Given the description of an element on the screen output the (x, y) to click on. 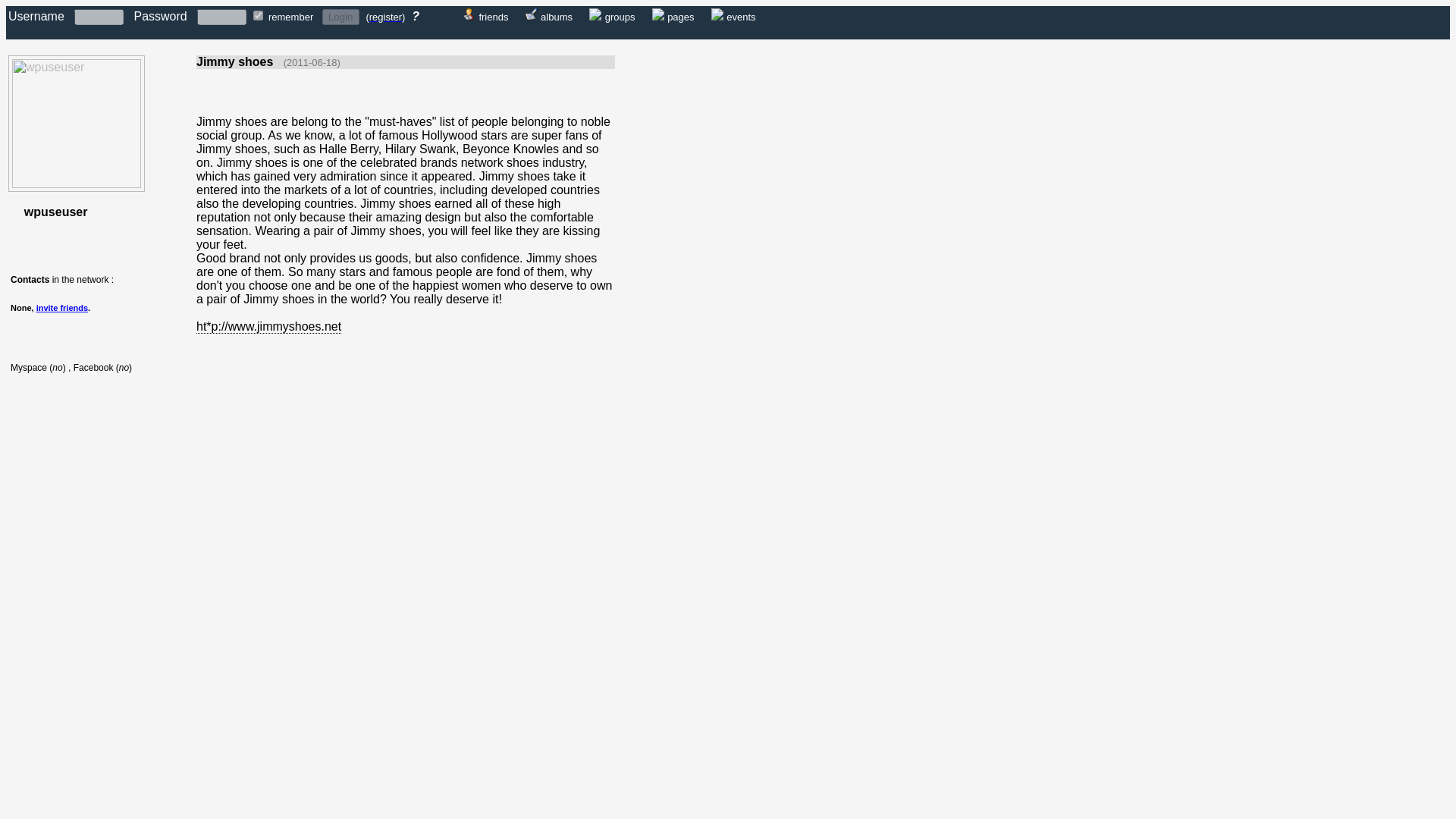
Please connect to find pages (657, 15)
Please connect to find pages (680, 15)
wpuseuser (76, 183)
Login (340, 17)
Please connect to find groups (595, 15)
events (740, 15)
Find friends (469, 15)
Please connect to view albums (556, 15)
friends (493, 15)
register (385, 16)
Please connect to find events (740, 15)
invite friends (61, 307)
Contacts (29, 279)
groups (619, 15)
albums (556, 15)
